Given the description of an element on the screen output the (x, y) to click on. 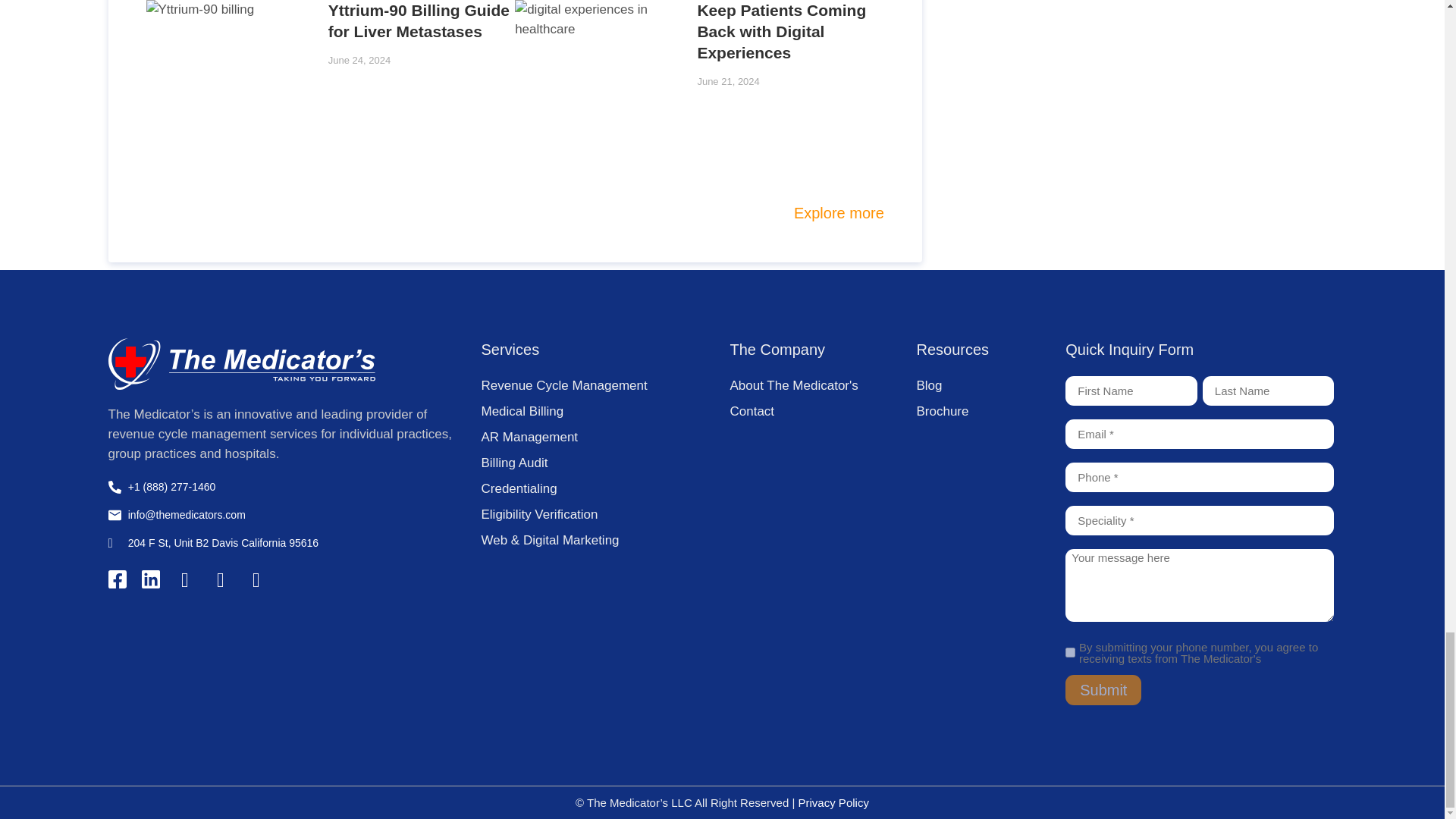
Submit (1103, 689)
